Given the description of an element on the screen output the (x, y) to click on. 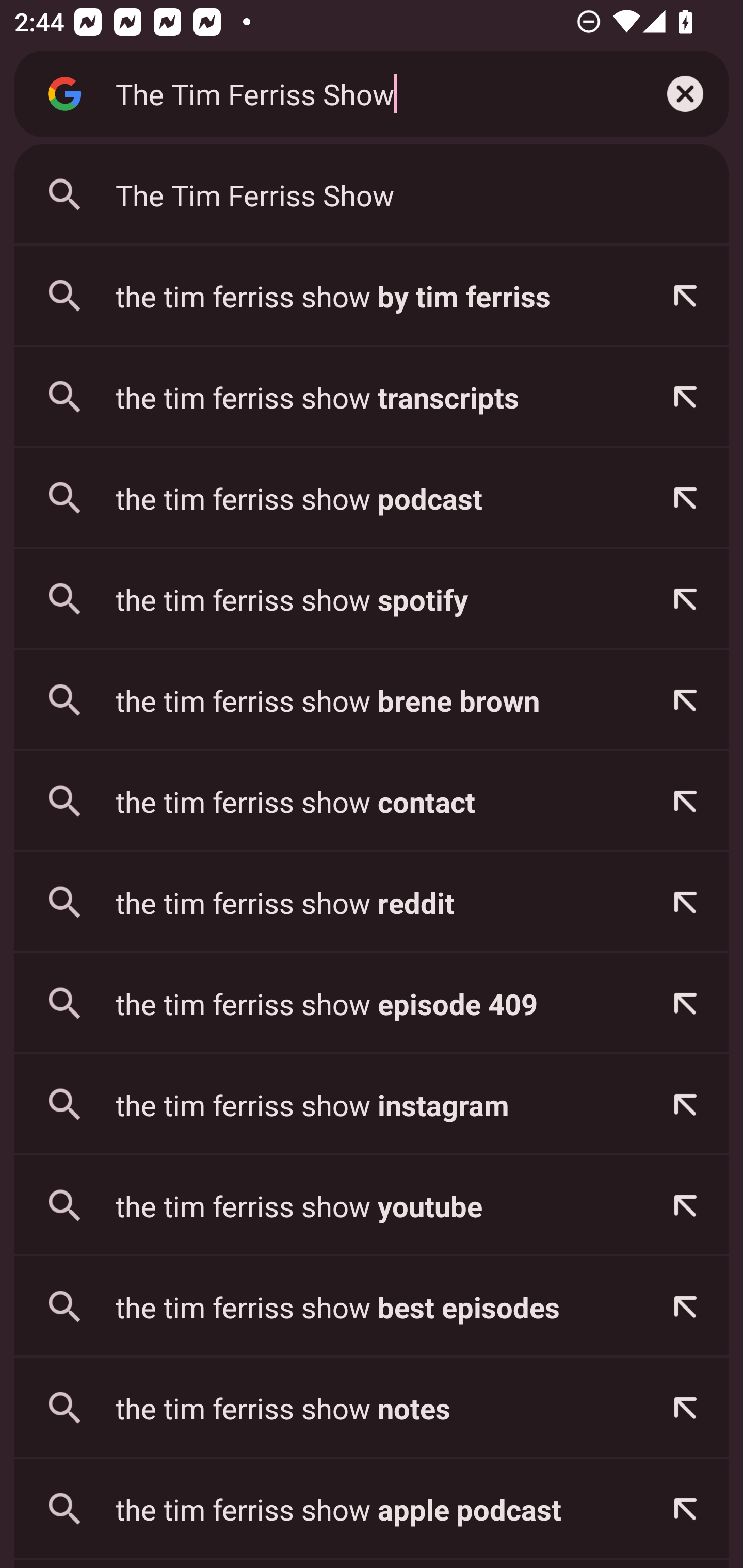
Clear input (684, 93)
The Tim Ferriss Show (367, 92)
The Tim Ferriss Show (371, 195)
Refine: the tim ferriss show by tim ferriss (684, 296)
Refine: the tim ferriss show transcripts (684, 397)
Refine: the tim ferriss show podcast (684, 498)
Refine: the tim ferriss show spotify (684, 598)
Refine: the tim ferriss show brene brown (684, 700)
Refine: the tim ferriss show contact (684, 801)
Refine: the tim ferriss show reddit (684, 902)
Refine: the tim ferriss show episode 409 (684, 1003)
Refine: the tim ferriss show instagram (684, 1104)
Refine: the tim ferriss show youtube (684, 1205)
Refine: the tim ferriss show best episodes (684, 1306)
Refine: the tim ferriss show notes (684, 1407)
Refine: the tim ferriss show apple podcast (684, 1509)
